Given the description of an element on the screen output the (x, y) to click on. 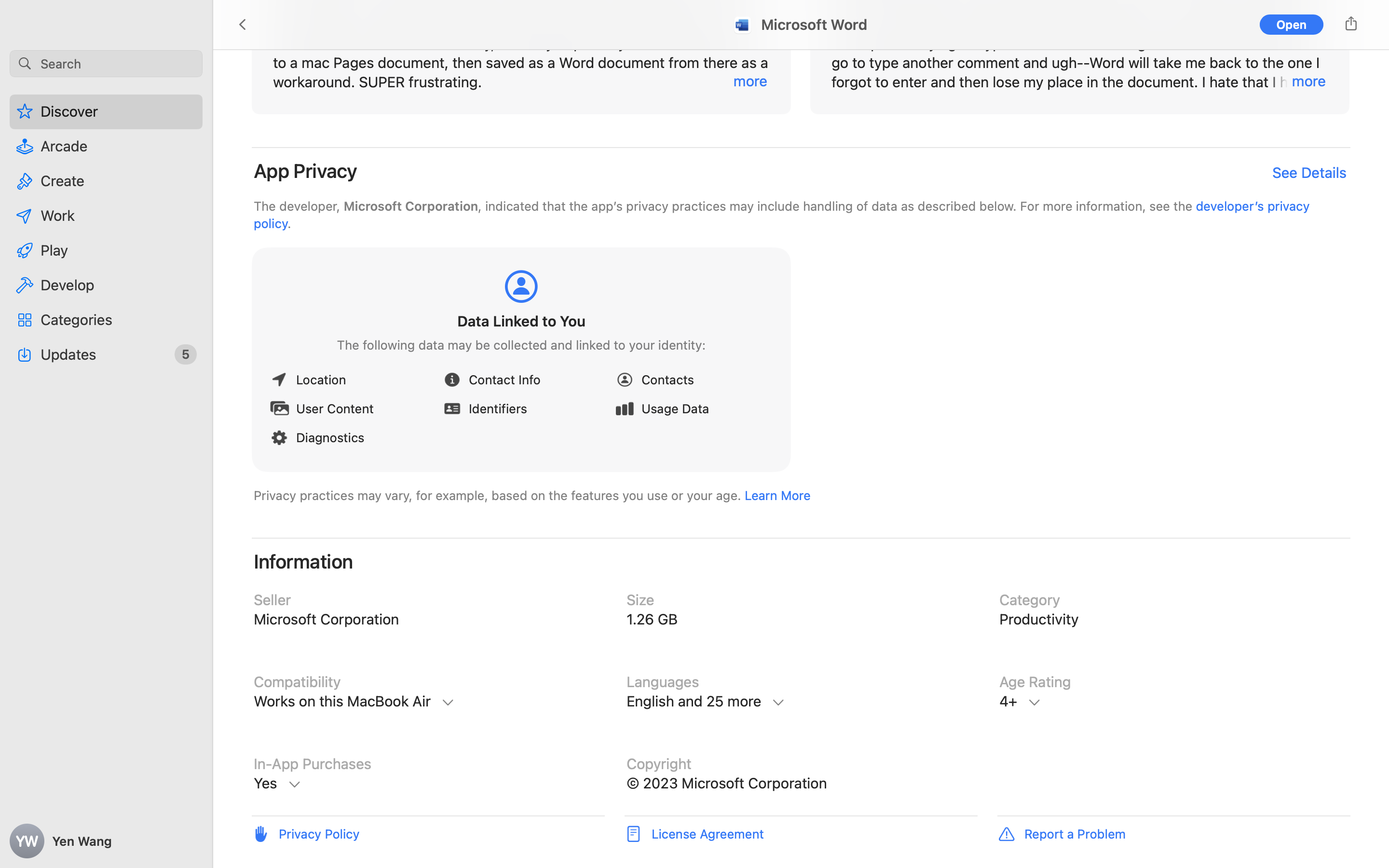
Yen Wang Element type: AXButton (106, 840)
Size, 1.26 GB Element type: AXStaticText (800, 619)
